Given the description of an element on the screen output the (x, y) to click on. 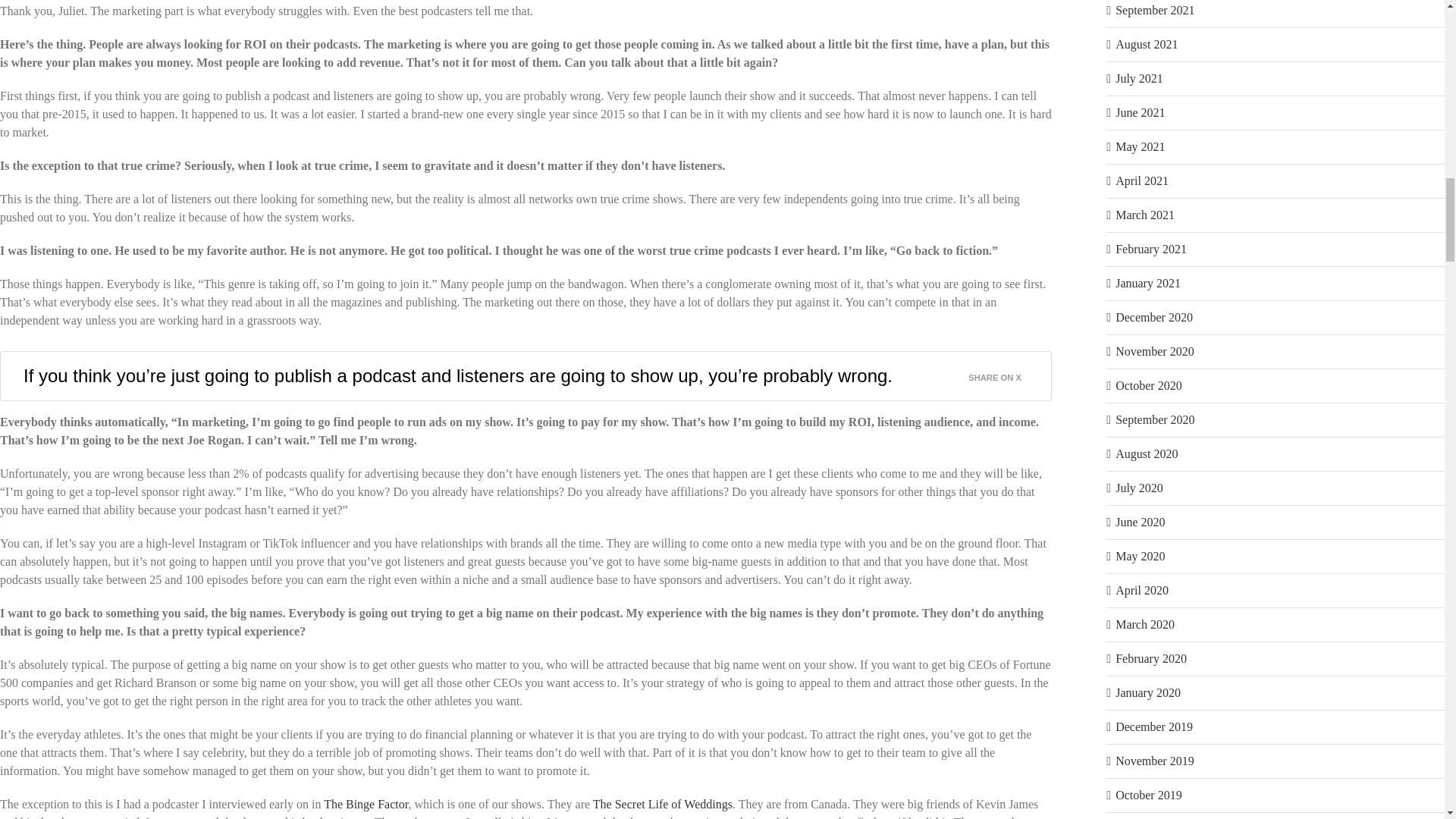
The Secret Life of Weddings (662, 803)
SHARE ON X (1003, 373)
The Binge Factor (365, 803)
